Given the description of an element on the screen output the (x, y) to click on. 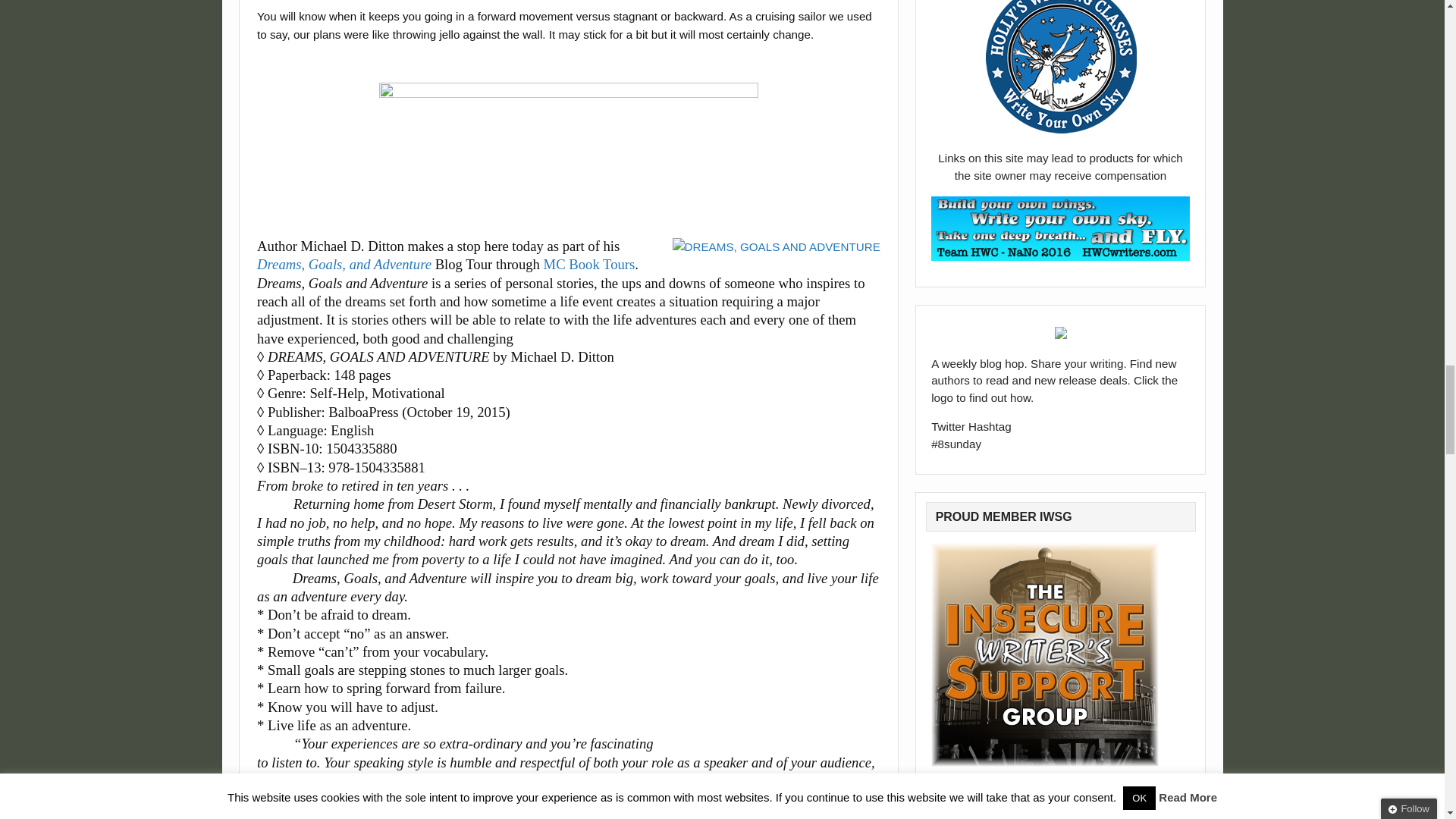
DREAMS, GOALS AND ADVENTURE (776, 247)
